Given the description of an element on the screen output the (x, y) to click on. 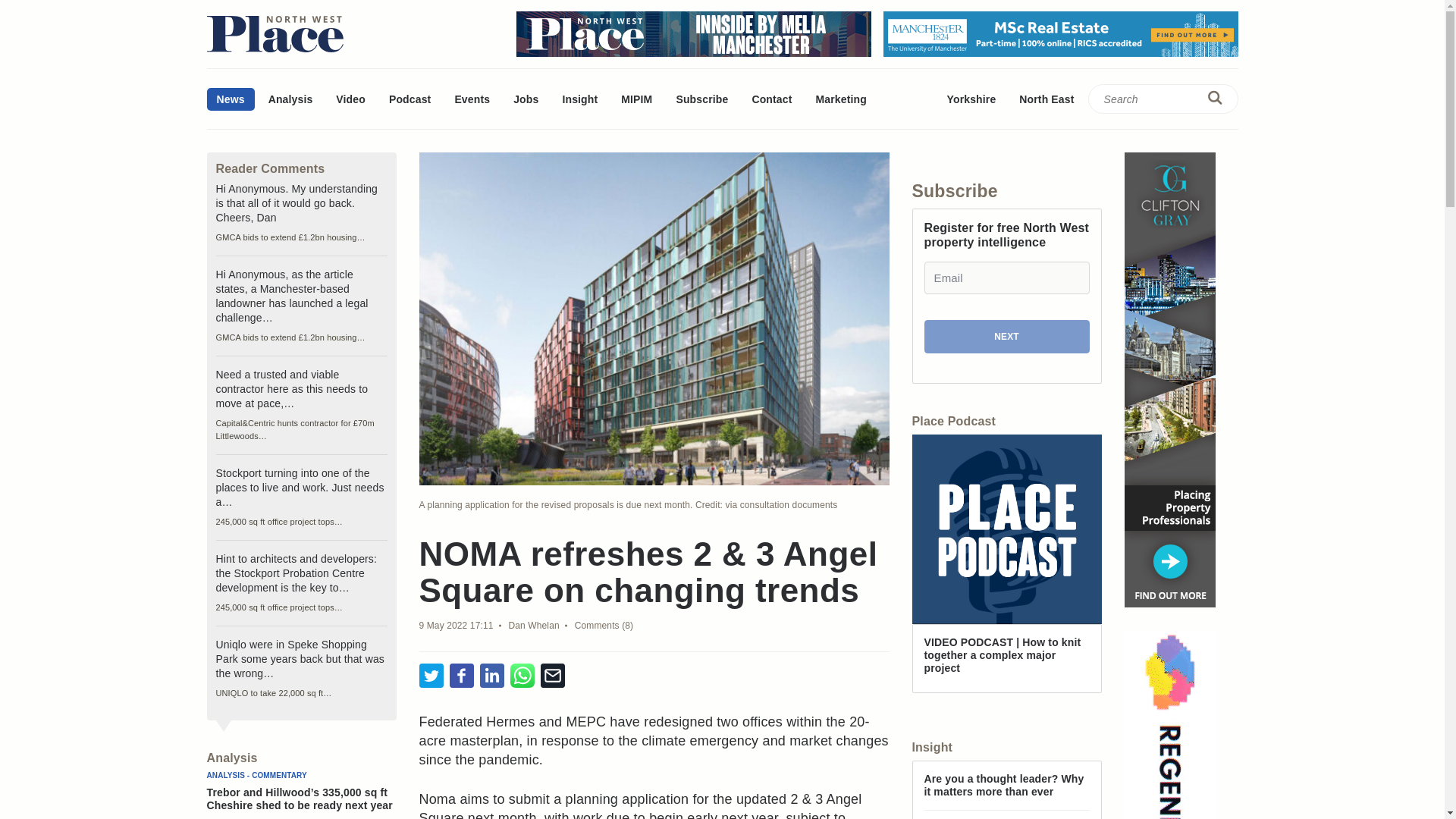
Analysis (291, 98)
News (229, 98)
Podcast (409, 98)
Share on WhatsApp (521, 676)
Events (471, 98)
Insight (579, 98)
Share on LinkedIn (491, 676)
Jobs (525, 98)
Video (350, 98)
Marketing (840, 98)
